Given the description of an element on the screen output the (x, y) to click on. 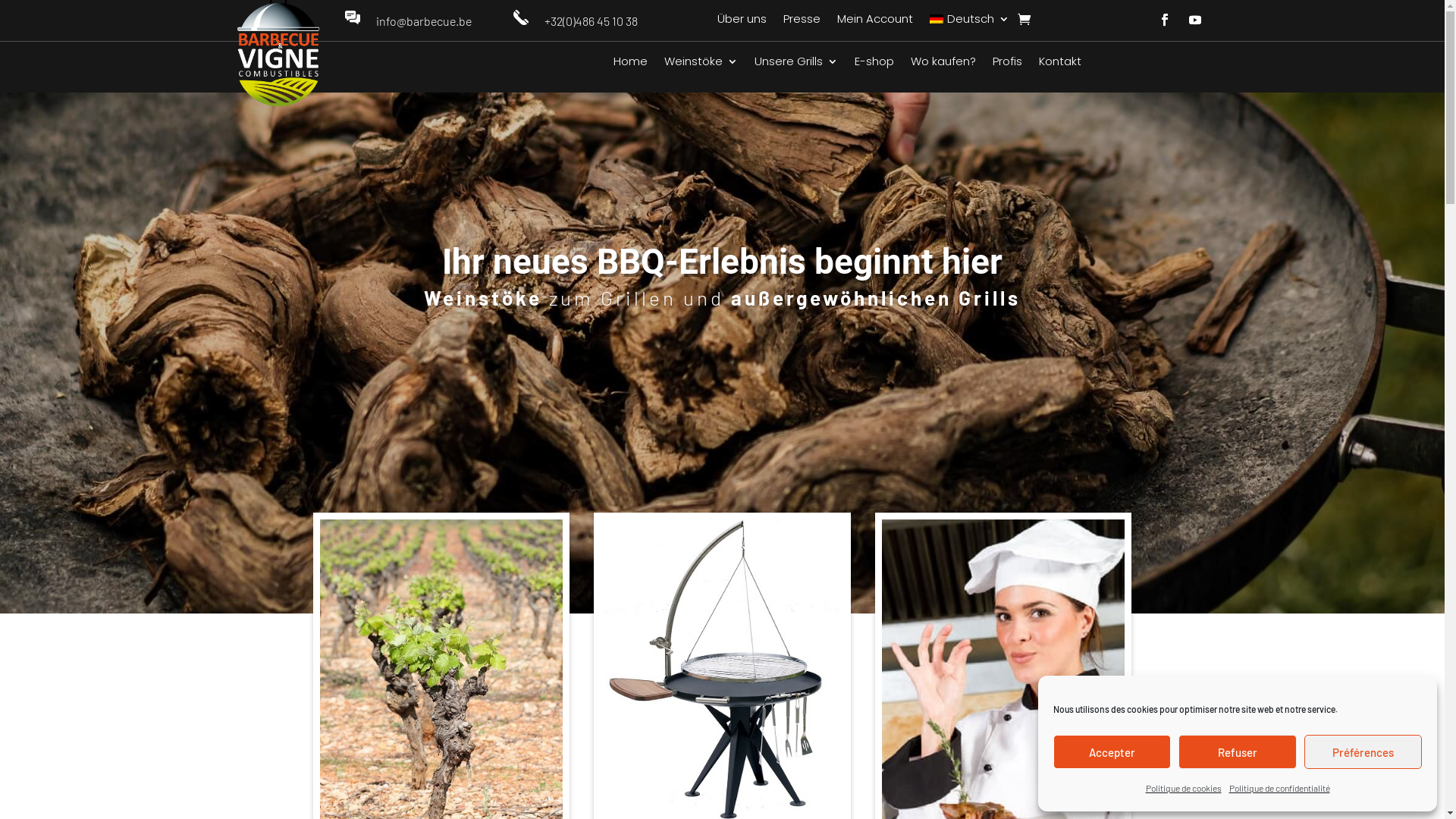
E-shop Element type: text (874, 64)
+32(0)486 45 10 38 Element type: text (590, 20)
Folge auf Facebook Element type: hover (1164, 19)
Profis Element type: text (1007, 64)
Kontakt Element type: text (1059, 64)
Mein Account Element type: text (875, 21)
Folge auf Youtube Element type: hover (1195, 19)
Refuser Element type: text (1236, 751)
3 Element type: text (734, 577)
Deutsch Element type: text (969, 21)
Wo kaufen? Element type: text (942, 64)
info@barbecue.be Element type: text (423, 20)
1 Element type: text (709, 577)
Presse Element type: text (801, 21)
Unsere Grills Element type: text (795, 64)
Home Element type: text (630, 64)
Politique de cookies Element type: text (1182, 788)
2 Element type: text (721, 577)
Accepter Element type: text (1111, 751)
